Given the description of an element on the screen output the (x, y) to click on. 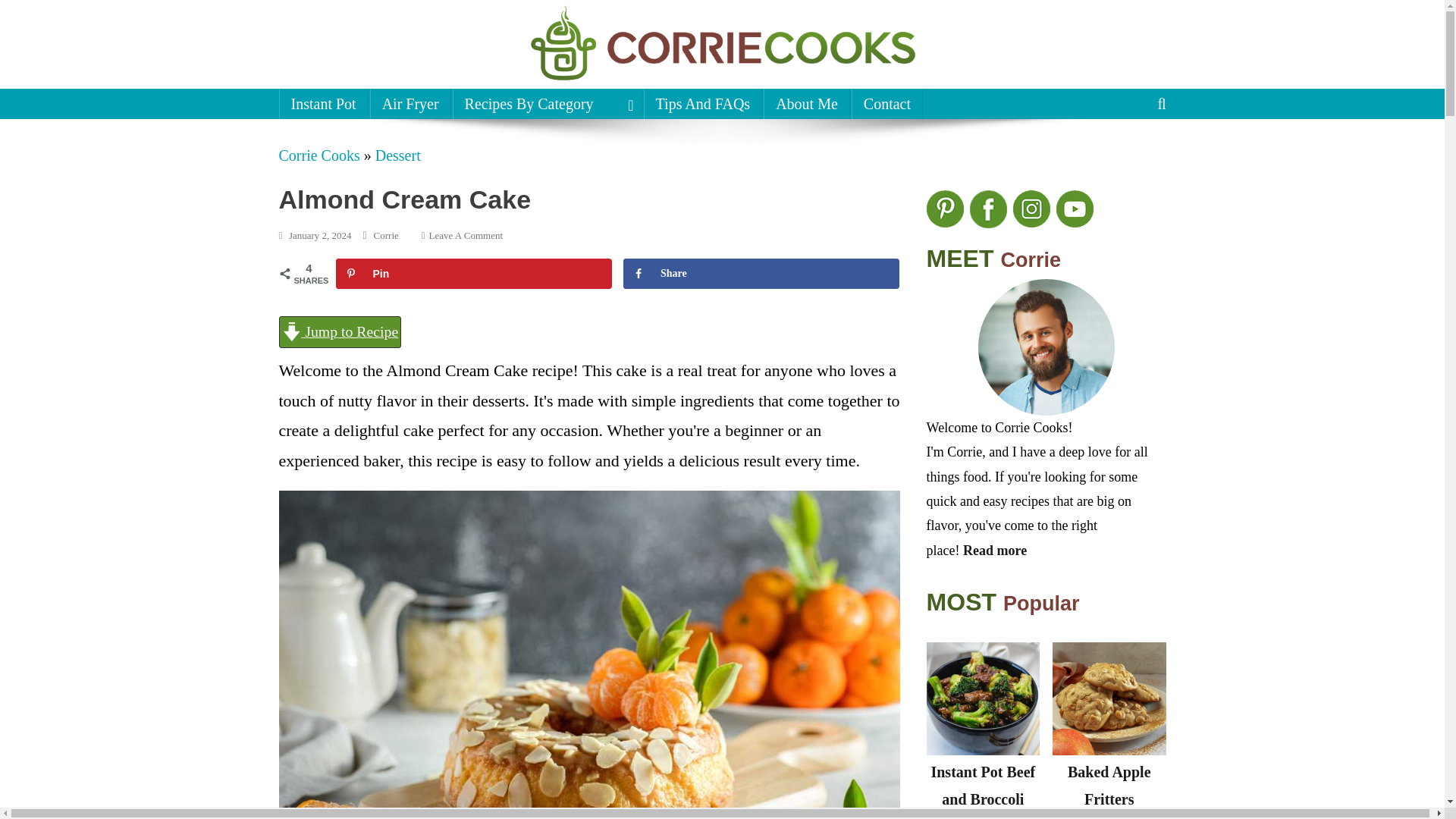
January 2, 2024 (320, 235)
Air Fryer (410, 103)
Dessert (397, 155)
Recipes By Category (465, 235)
Tips And FAQs (547, 103)
Instant Pot (702, 103)
Search (323, 103)
Corrie Cooks (1133, 154)
Contact (349, 88)
